Given the description of an element on the screen output the (x, y) to click on. 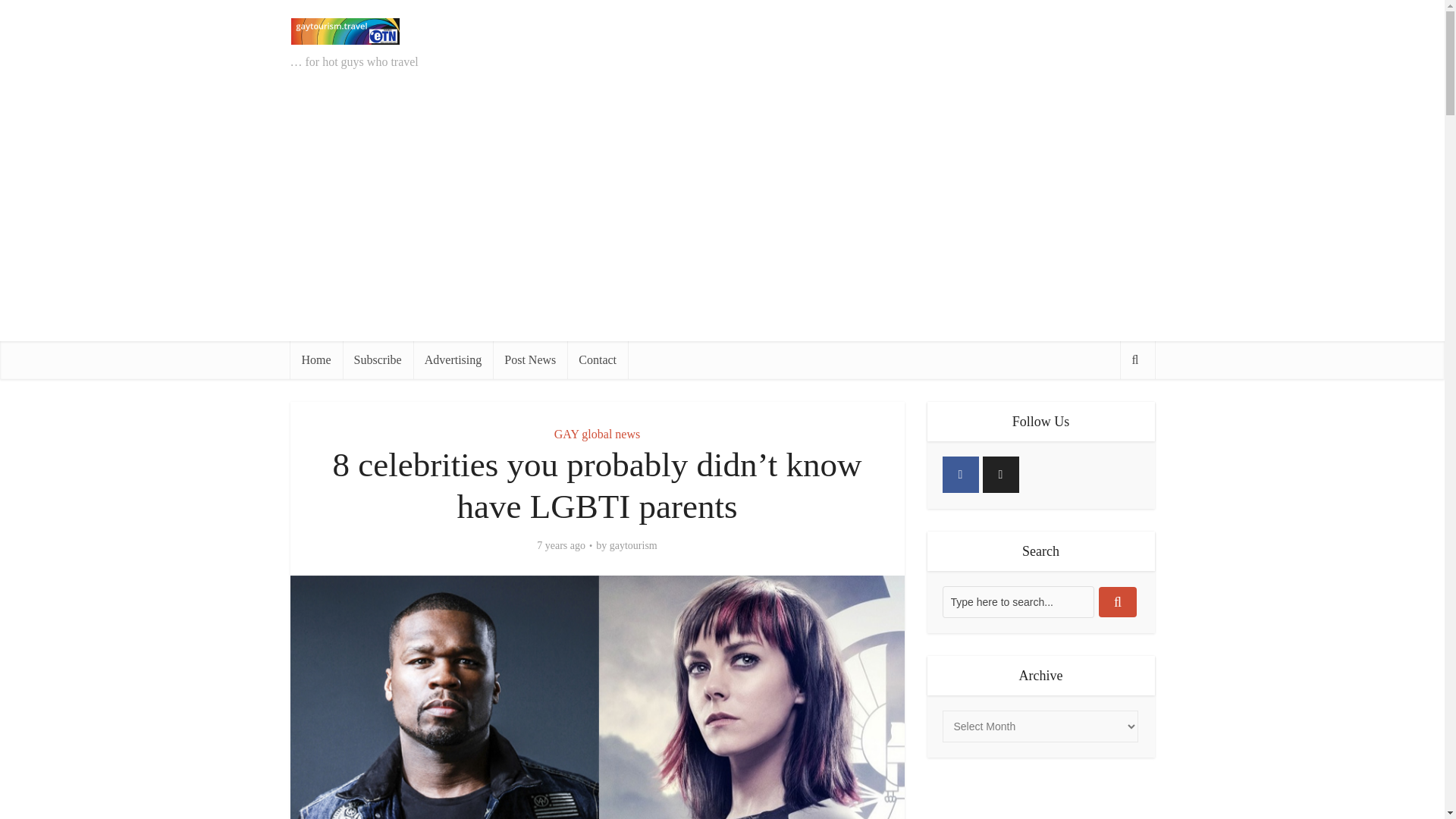
Post News (530, 360)
Type here to search... (1017, 602)
Advertising (453, 360)
Type here to search... (1017, 602)
Home (315, 360)
Subscribe (377, 360)
gaytourism (634, 545)
Contact (597, 360)
GAY global news (597, 433)
